Given the description of an element on the screen output the (x, y) to click on. 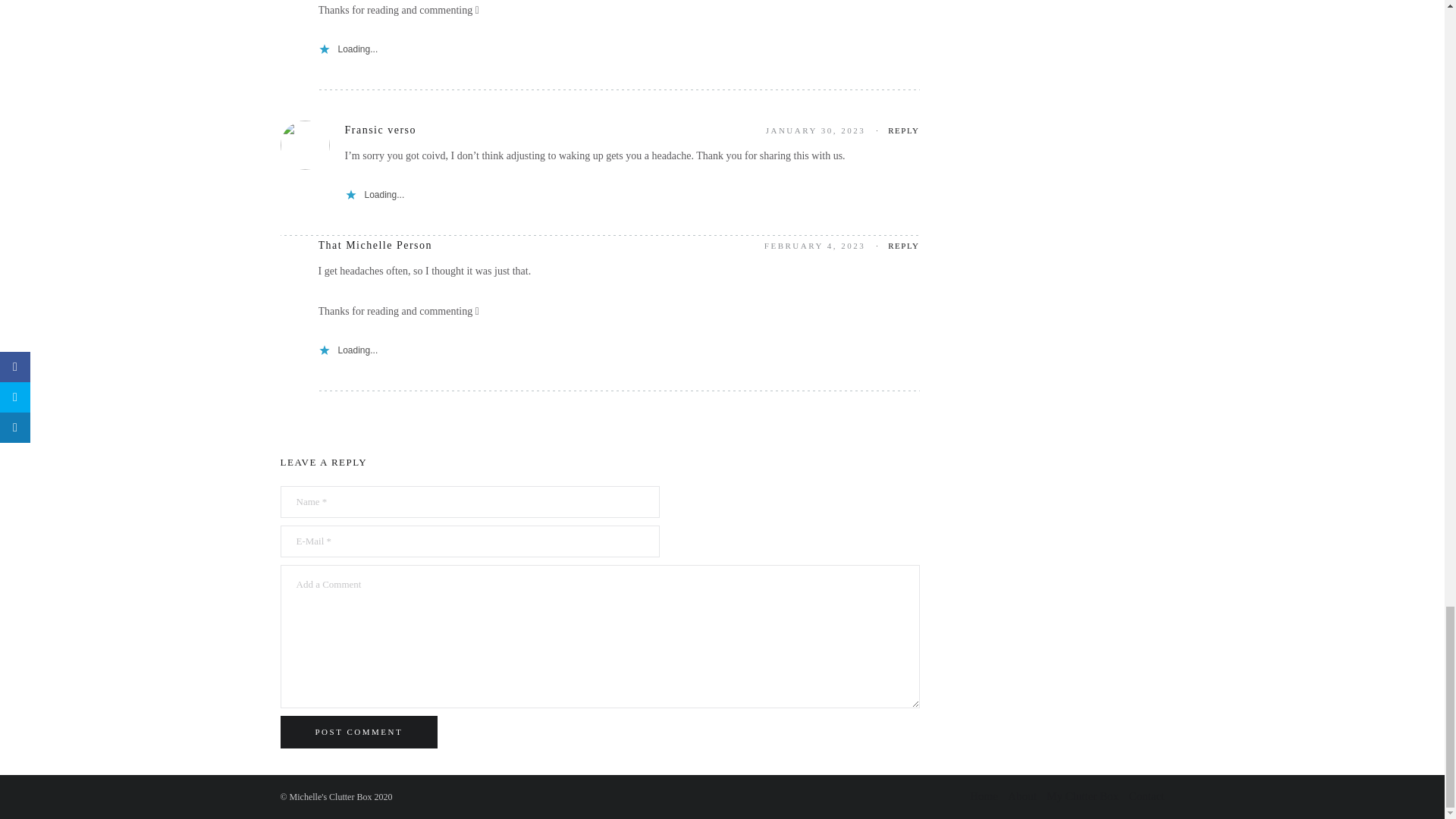
Post comment (359, 731)
REPLY (903, 245)
REPLY (903, 130)
